Given the description of an element on the screen output the (x, y) to click on. 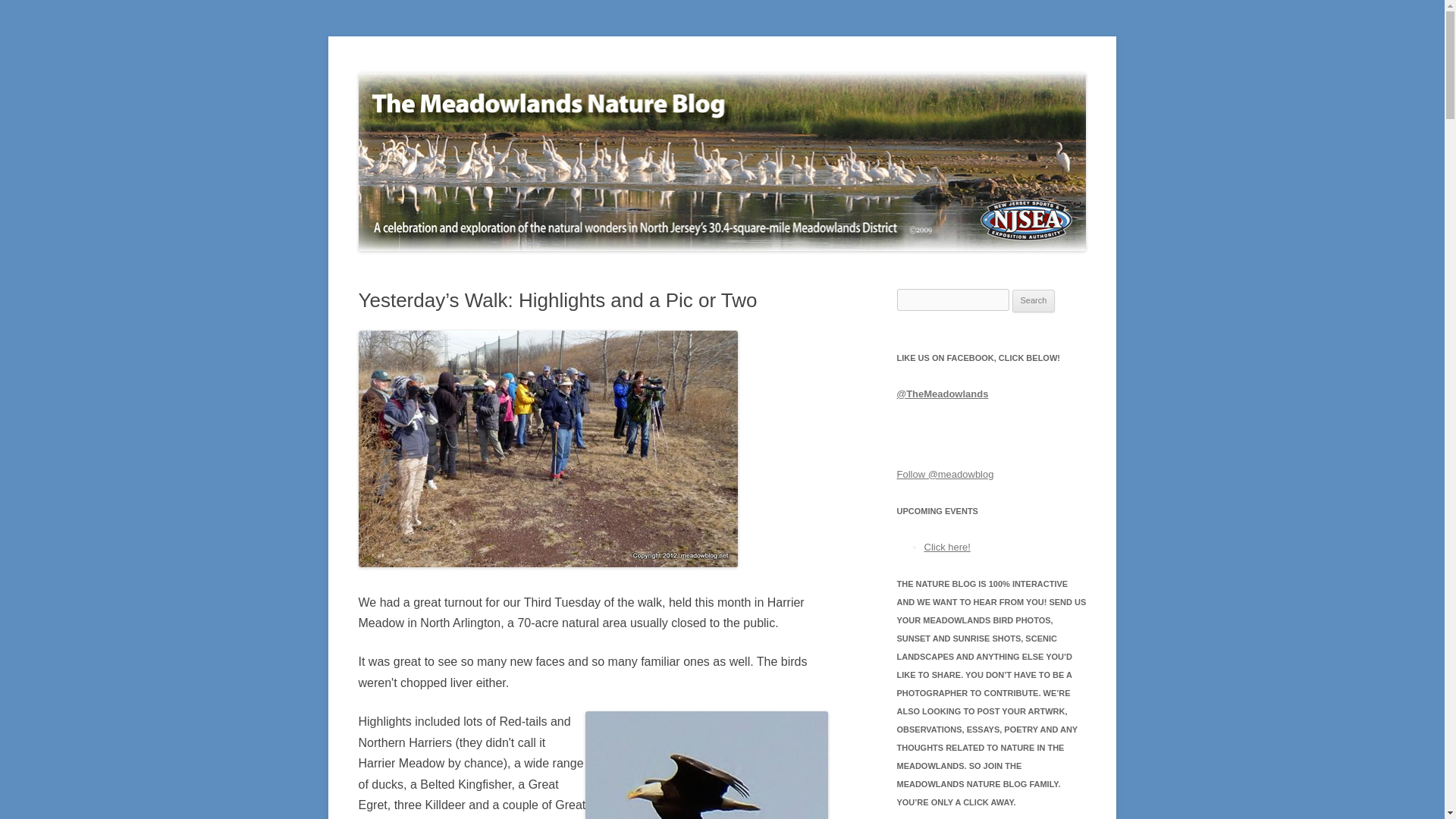
The Meadowlands Nature Blog (501, 72)
Baldeagle (706, 765)
Click here! (946, 546)
The Meadowlands Nature Blog (501, 72)
P1090172 (547, 448)
Search (1033, 300)
Search (1033, 300)
